Given the description of an element on the screen output the (x, y) to click on. 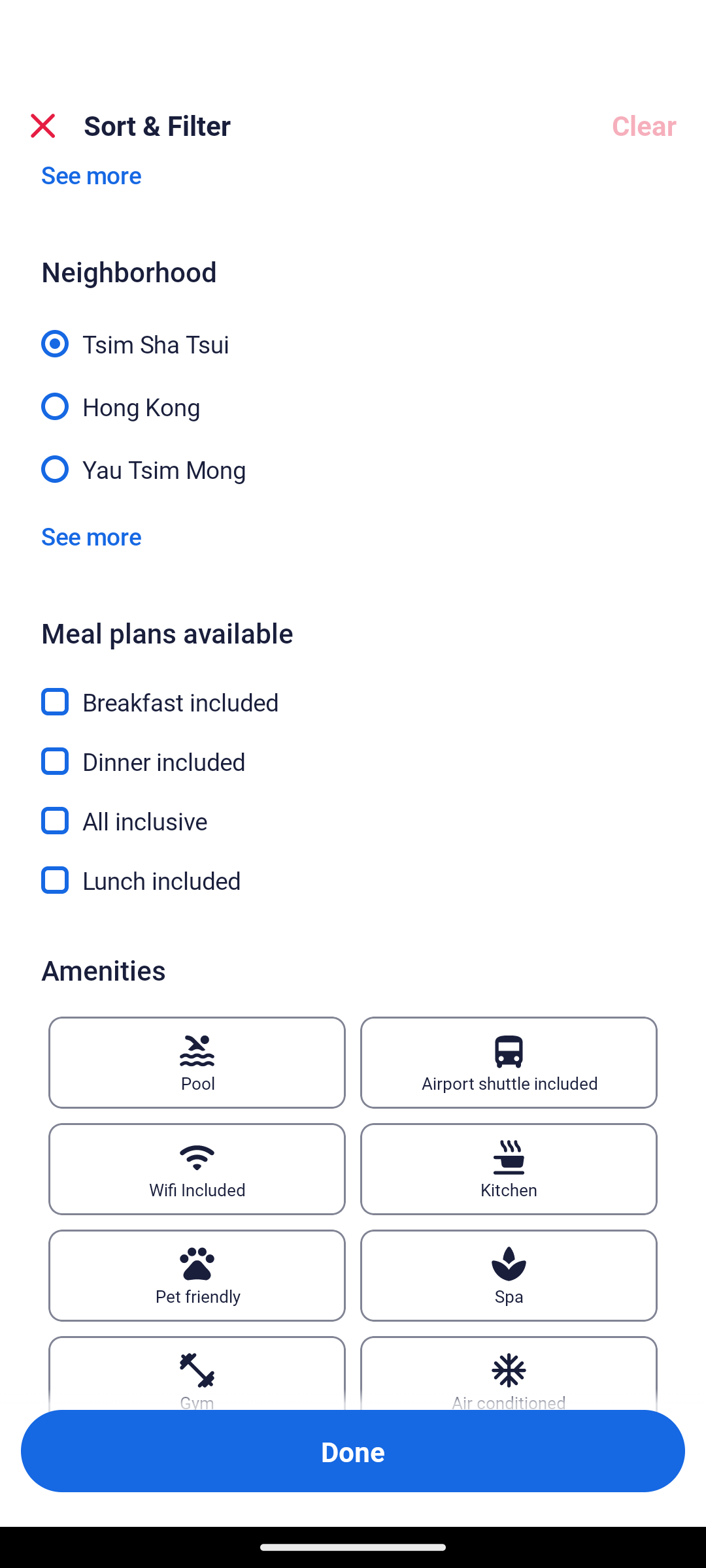
Clear (643, 125)
Close Sort and Filter (43, 125)
See more See more property types Link (90, 191)
Hong Kong (352, 394)
Yau Tsim Mong (352, 467)
See more See more neighborhoods Link (90, 536)
Breakfast included, Breakfast included (352, 691)
Dinner included, Dinner included (352, 750)
All inclusive, All inclusive (352, 809)
Lunch included, Lunch included (352, 879)
Pool (196, 1062)
Airport shuttle included (508, 1062)
Wifi Included (196, 1168)
Kitchen (508, 1168)
Pet friendly (196, 1275)
Spa (508, 1275)
Gym (196, 1372)
Air conditioned (508, 1372)
Apply and close Sort and Filter Done (352, 1450)
